Given the description of an element on the screen output the (x, y) to click on. 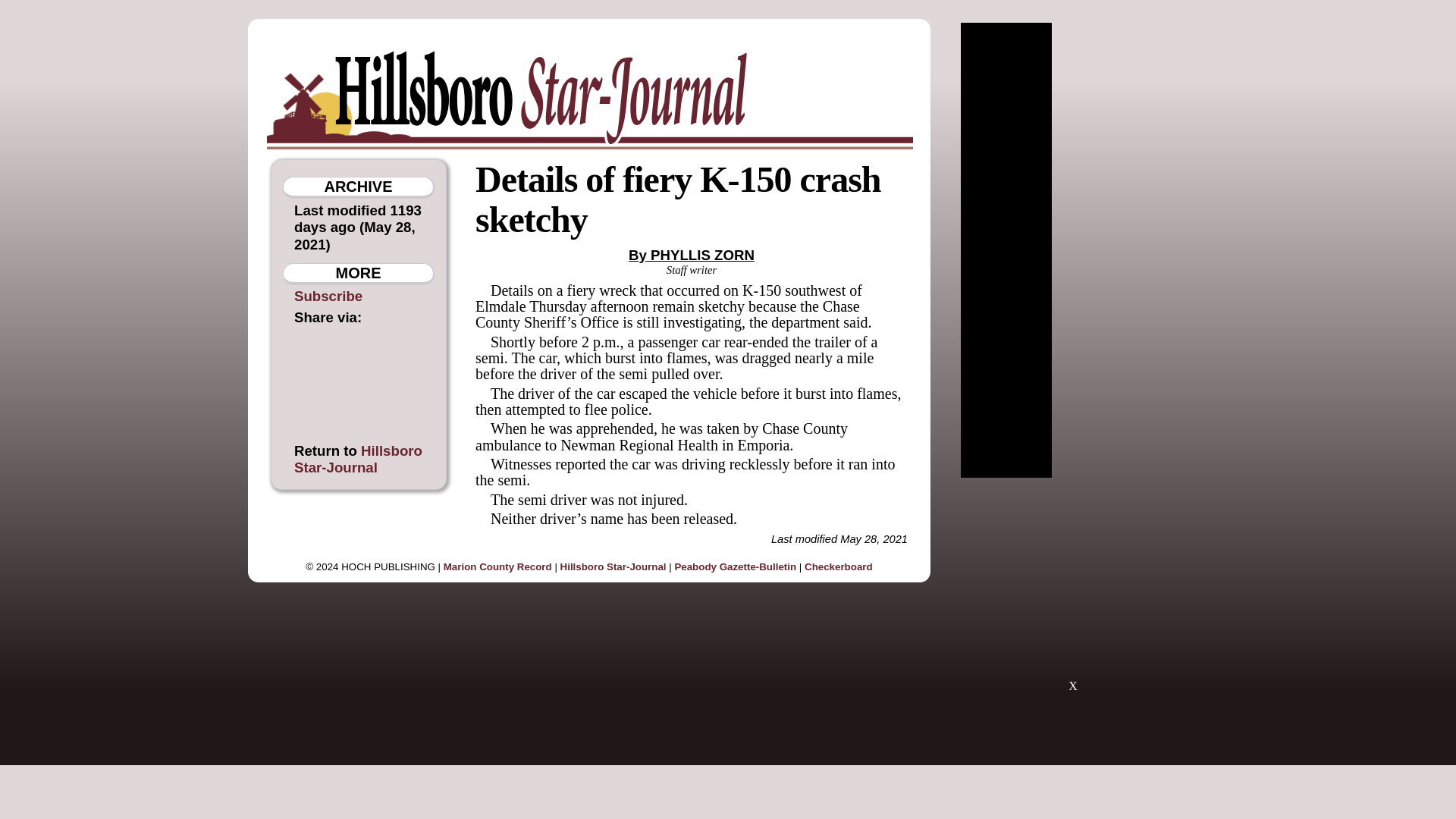
Hillsboro Star-Journal (613, 566)
Subscribe (328, 295)
Hillsboro Star-Journal (358, 459)
Checkerboard (838, 566)
Marion County Record (497, 566)
Peabody Gazette-Bulletin (735, 566)
